Given the description of an element on the screen output the (x, y) to click on. 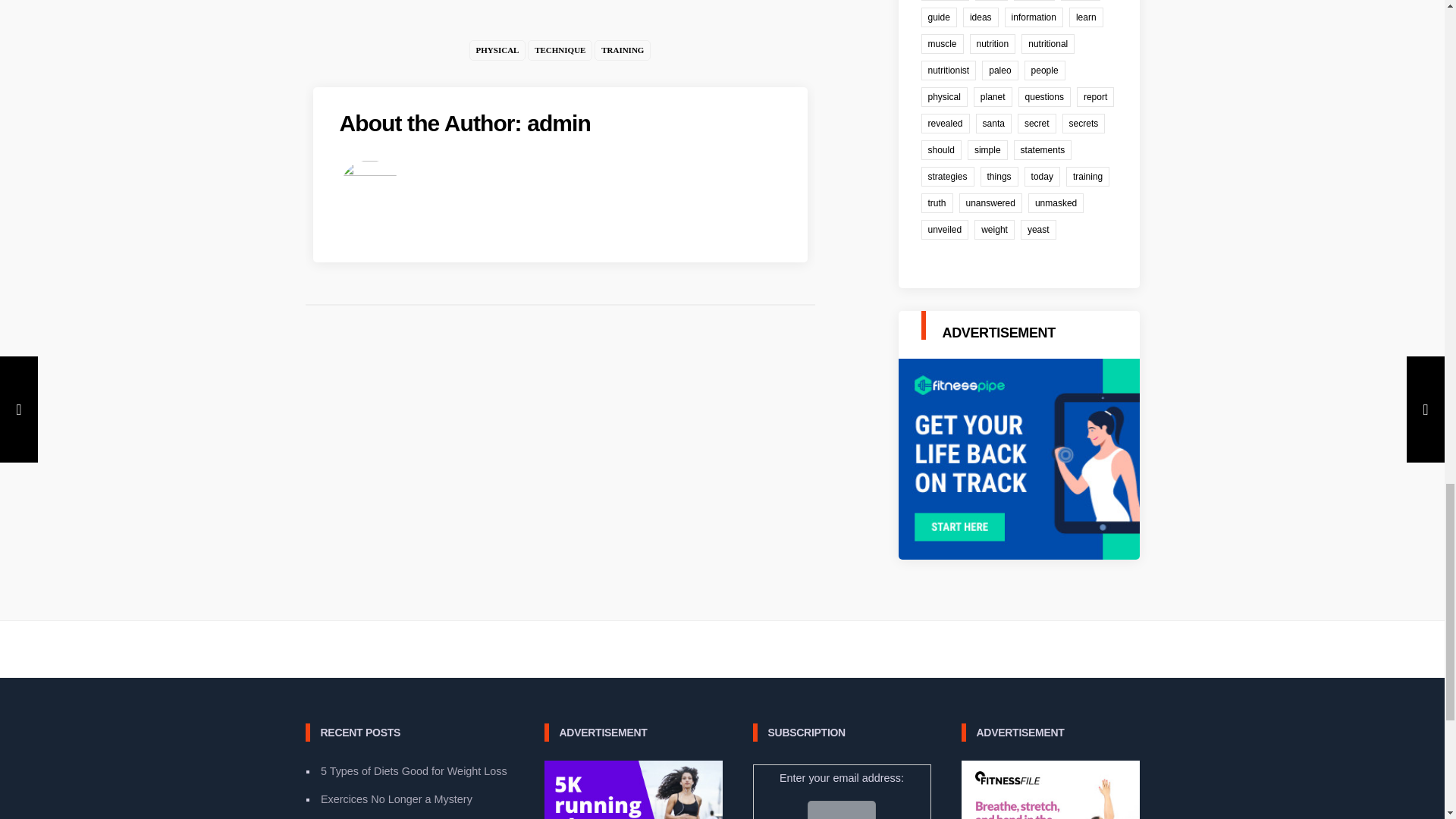
PHYSICAL (496, 50)
TECHNIQUE (559, 50)
admin (559, 122)
TRAINING (622, 50)
Posts by admin (559, 122)
